Given the description of an element on the screen output the (x, y) to click on. 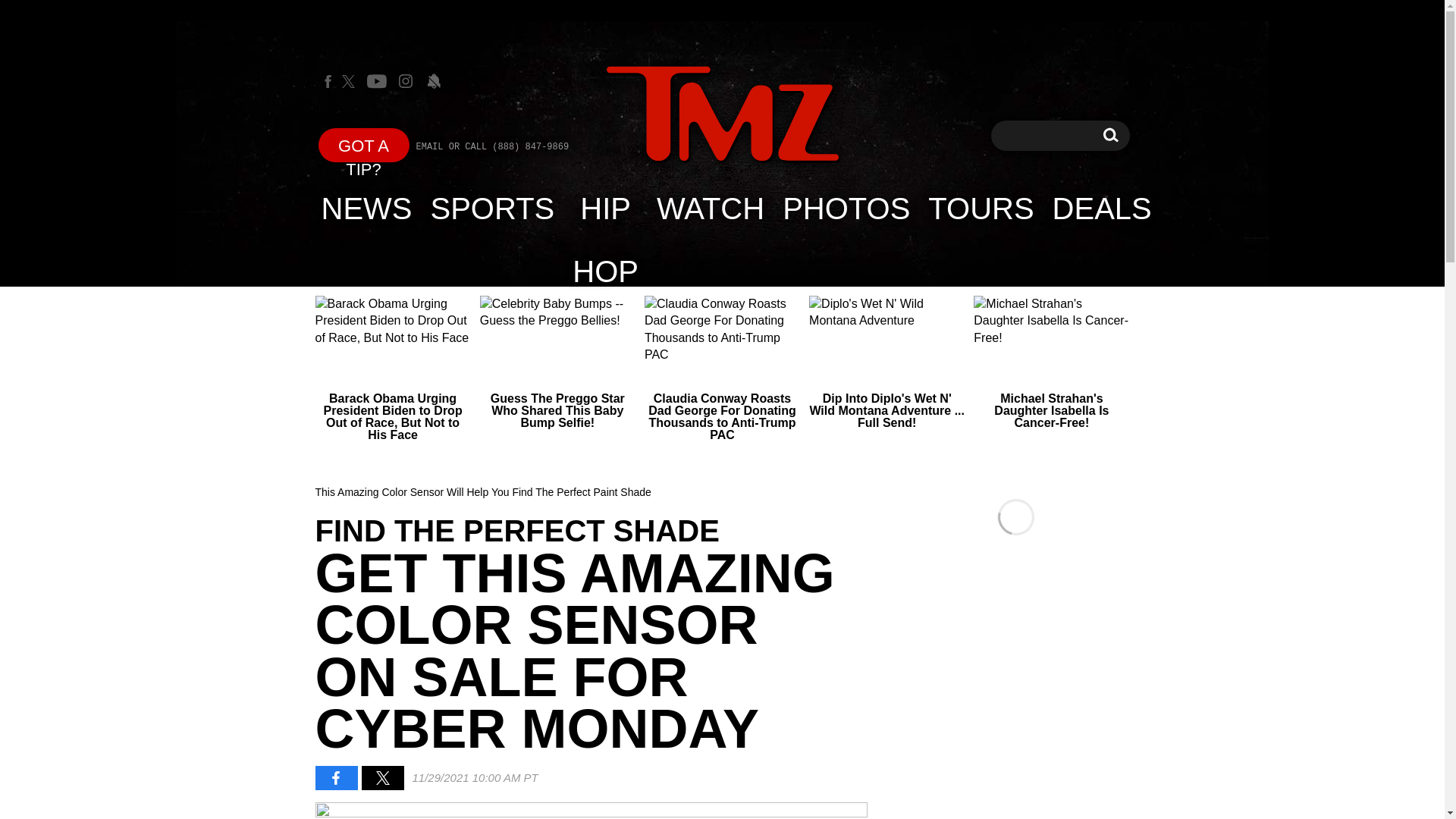
SPORTS (493, 207)
WATCH (710, 207)
PHOTOS (845, 207)
HIP HOP (605, 207)
TOURS (980, 207)
DEALS (1101, 207)
You have notifications blocked (1110, 135)
TMZ (434, 80)
Search (722, 113)
TMZ (1110, 134)
Skip to main content (722, 115)
NEWS (363, 144)
